Given the description of an element on the screen output the (x, y) to click on. 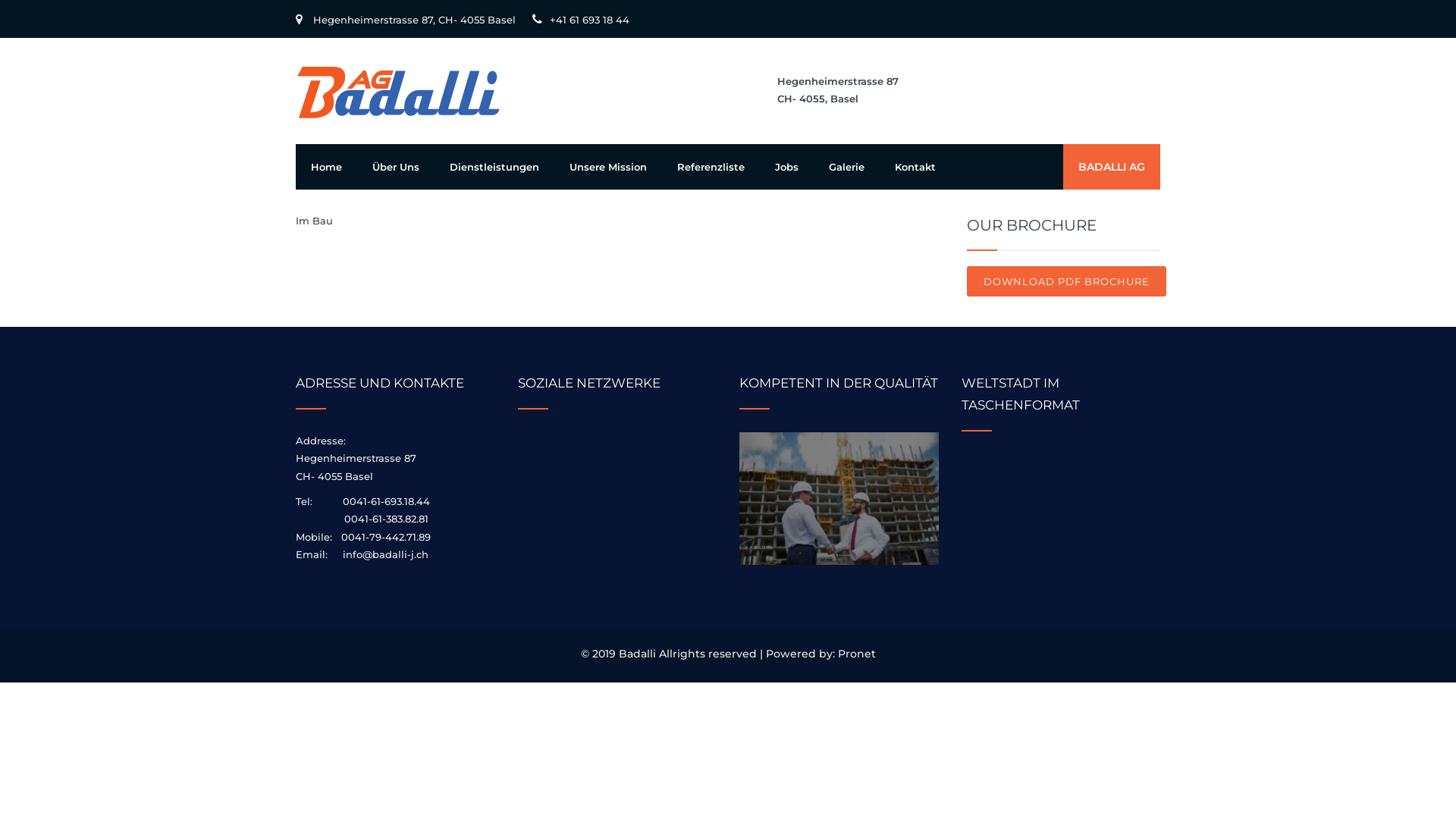
Galerie Element type: text (846, 166)
Referenzliste Element type: text (710, 166)
Unsere Mission Element type: text (608, 166)
Home Element type: text (326, 166)
Dienstleistungen Element type: text (494, 166)
BADALLI AG Element type: text (1111, 166)
Kontakt Element type: text (914, 166)
DOWNLOAD PDF BROCHURE Element type: text (1066, 281)
Jobs Element type: text (786, 166)
